Given the description of an element on the screen output the (x, y) to click on. 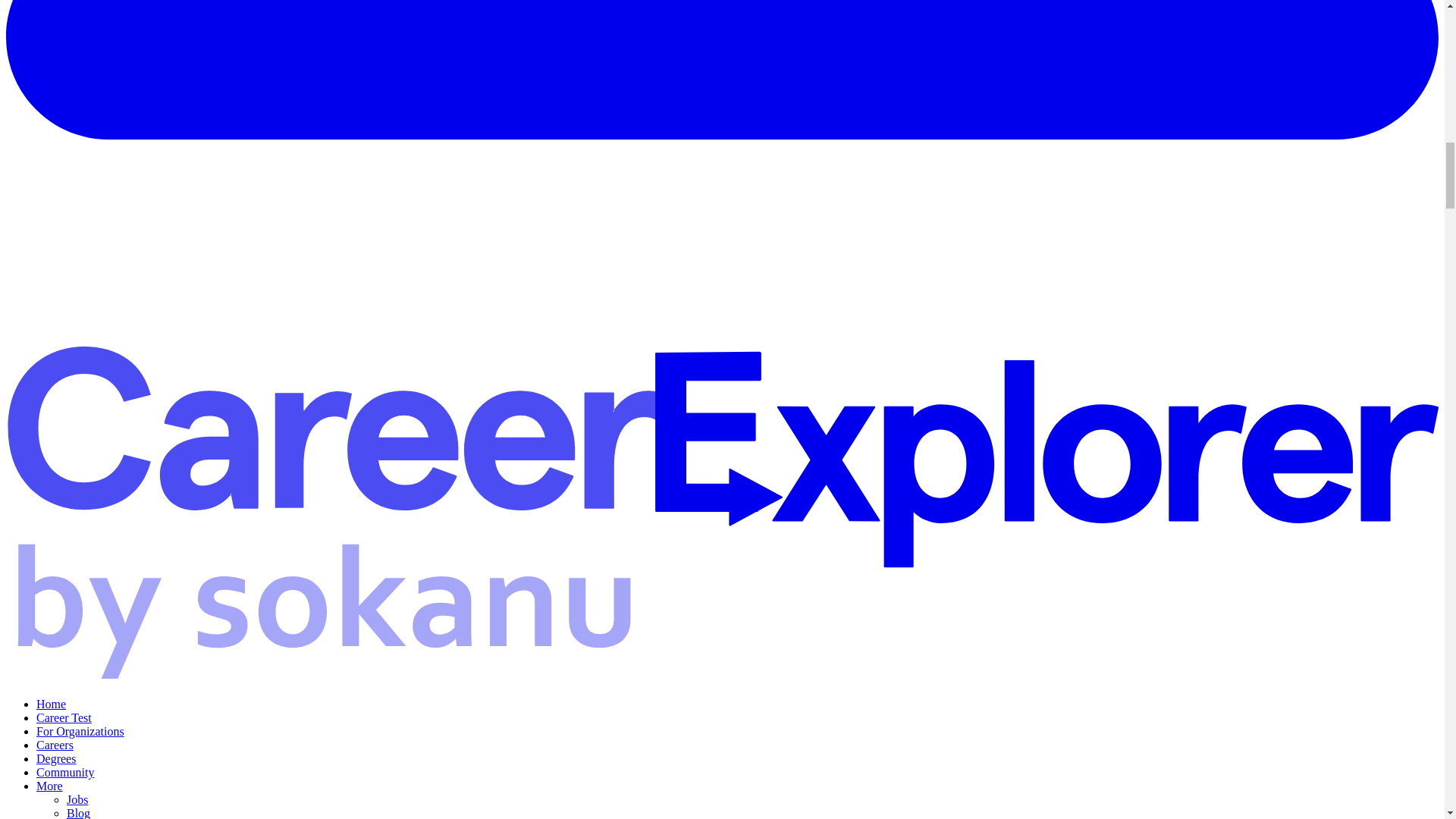
For Organizations (79, 730)
Home (50, 703)
Jobs (76, 799)
Career Test (63, 717)
Degrees (55, 758)
Careers (55, 744)
More (49, 785)
Community (65, 771)
Blog (78, 812)
